Given the description of an element on the screen output the (x, y) to click on. 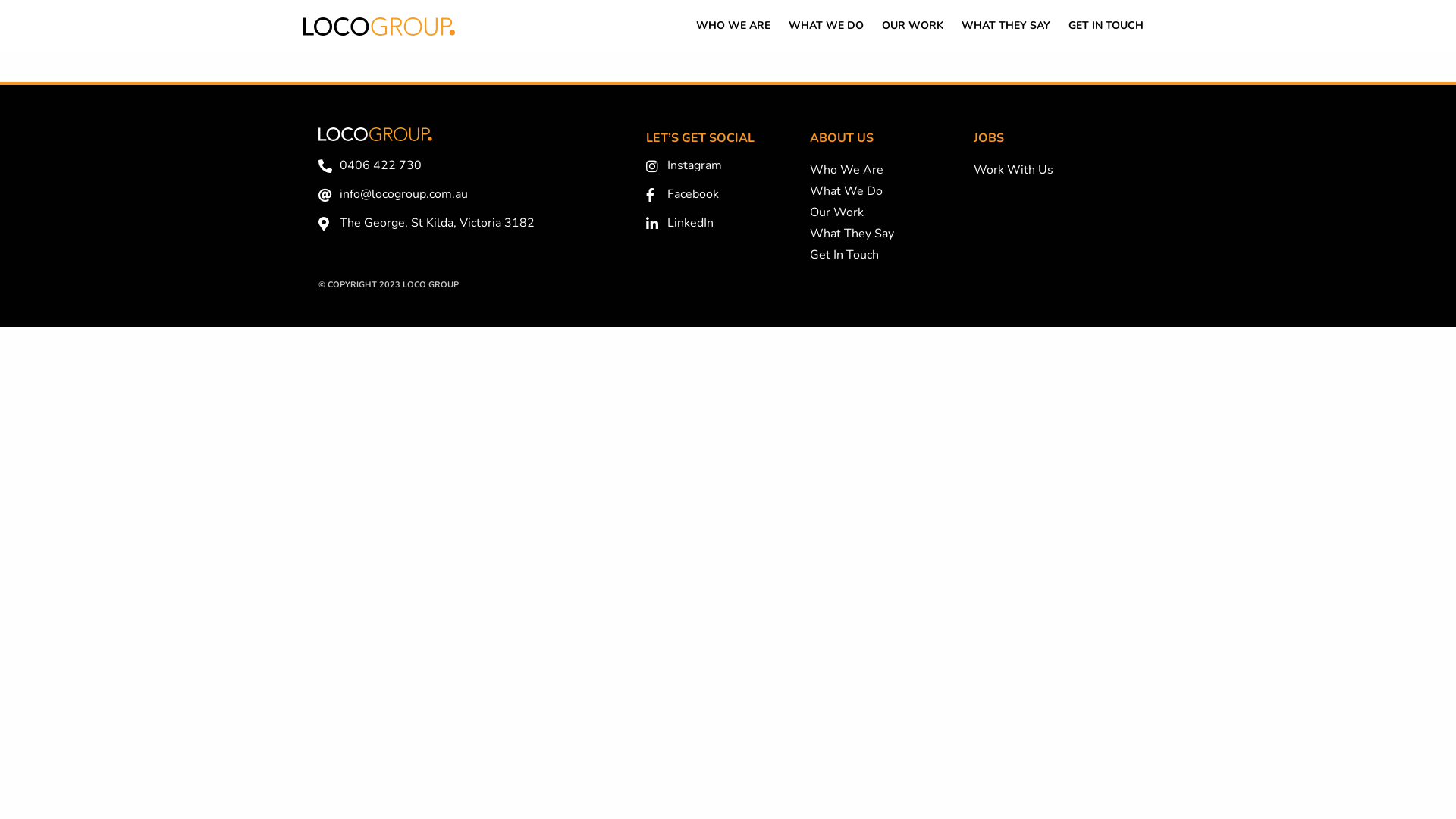
LinkedIn Element type: text (727, 223)
WHO WE ARE Element type: text (733, 25)
GET IN TOUCH Element type: text (1105, 25)
Facebook Element type: text (727, 194)
Our Work Element type: text (836, 211)
info@locogroup.com.au Element type: text (474, 194)
WHAT WE DO Element type: text (825, 25)
WHAT THEY SAY Element type: text (1005, 25)
What They Say Element type: text (851, 233)
Work With Us Element type: text (1013, 169)
OUR WORK Element type: text (912, 25)
Instagram Element type: text (727, 165)
Get In Touch Element type: text (843, 254)
Who We Are Element type: text (846, 169)
What We Do Element type: text (845, 190)
